Given the description of an element on the screen output the (x, y) to click on. 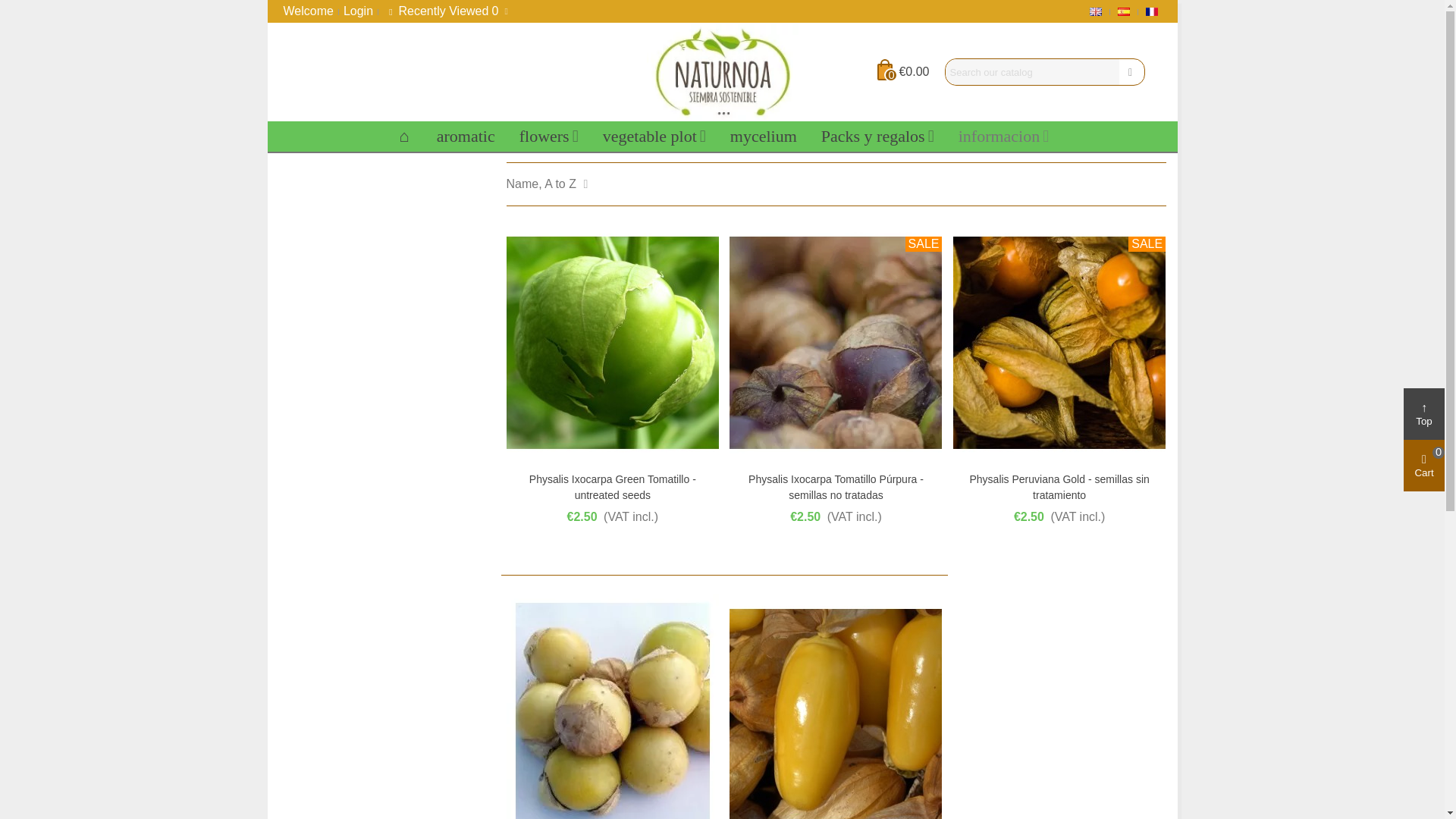
Login (357, 11)
vegetable plot (654, 136)
Naturnoa (721, 71)
aromatic (465, 136)
flowers (548, 136)
View my shopping cart (904, 72)
Physalis Ixocarpa Green Tomatillo - untreated seeds (612, 342)
Log in to your customer account (357, 11)
Physalis Ixocarpa Green Tomatillo - untreated seeds (612, 487)
